Given the description of an element on the screen output the (x, y) to click on. 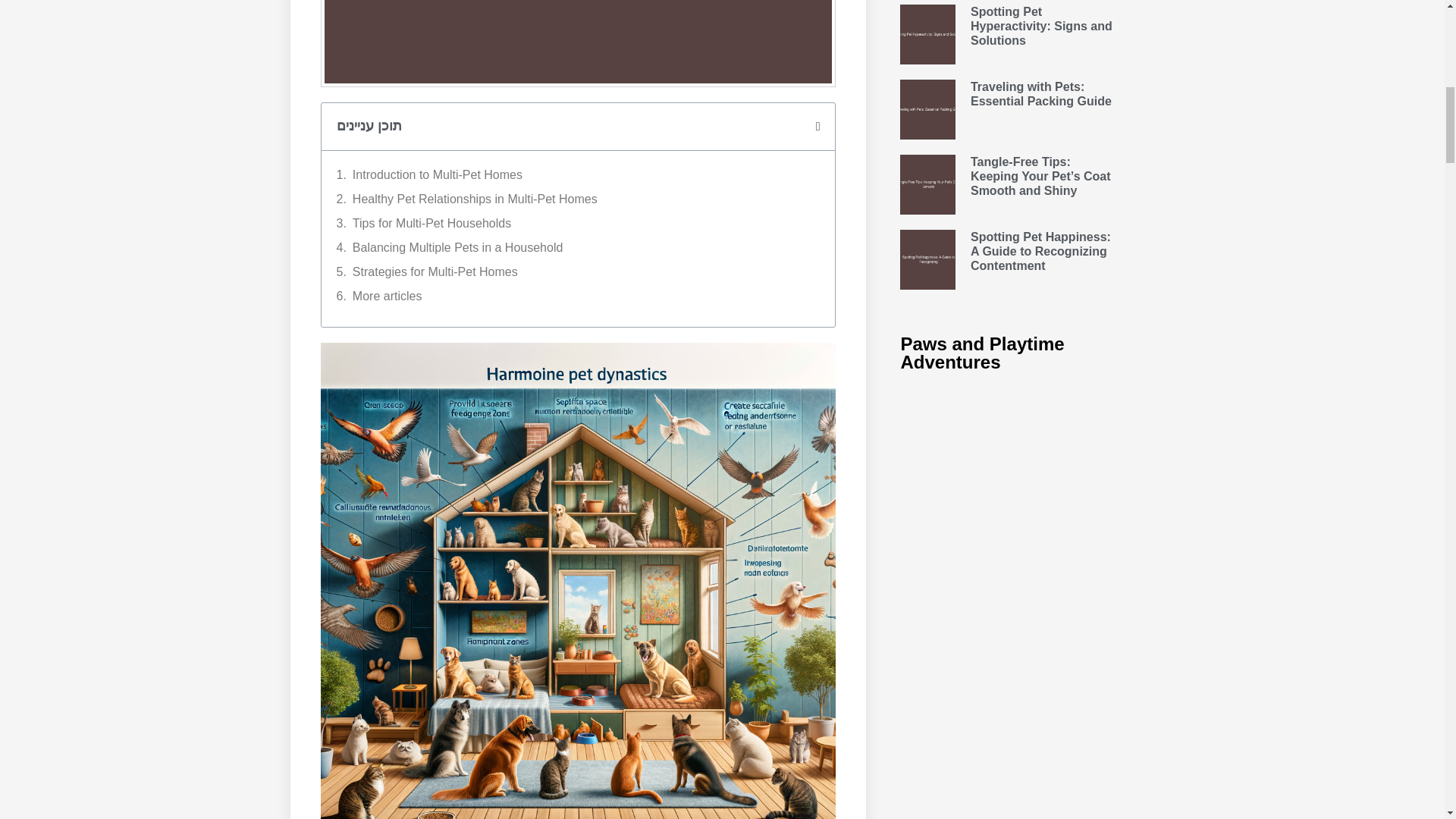
Healthy Pet Relationships in Multi-Pet Homes (474, 199)
Strategies for Multi-Pet Homes (435, 271)
Tips for Multi-Pet Households (431, 223)
Spotting Pet Happiness: A Guide to Recognizing Contentment (1040, 250)
Spotting Pet Hyperactivity: Signs and Solutions (1041, 24)
Introduction to Multi-Pet Homes (437, 175)
More articles (387, 296)
Balancing Multiple Pets in a Household (457, 248)
Traveling with Pets: Essential Packing Guide (1041, 93)
